Given the description of an element on the screen output the (x, y) to click on. 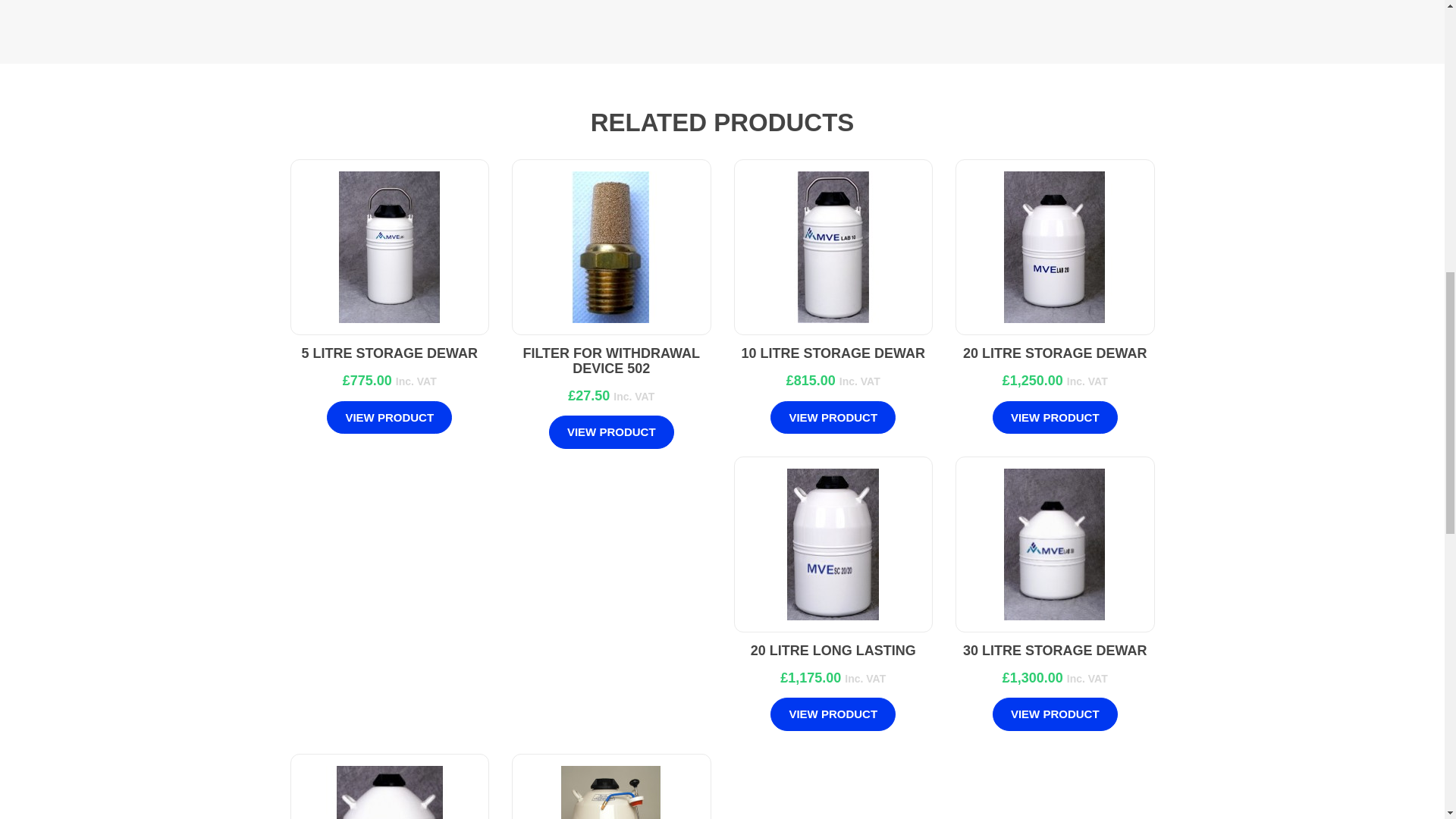
5 Litre Storage Dewar (389, 246)
Filter for Withdrawal Device 502 (611, 246)
50 Litre Storage Dewar (389, 792)
10 Litre Storage Dewar (832, 246)
20 Litre Long Lasting (832, 543)
20 Litre Storage Dewar (1054, 246)
Complete Cryo system (611, 792)
30 Litre Storage Dewar (1054, 543)
